Given the description of an element on the screen output the (x, y) to click on. 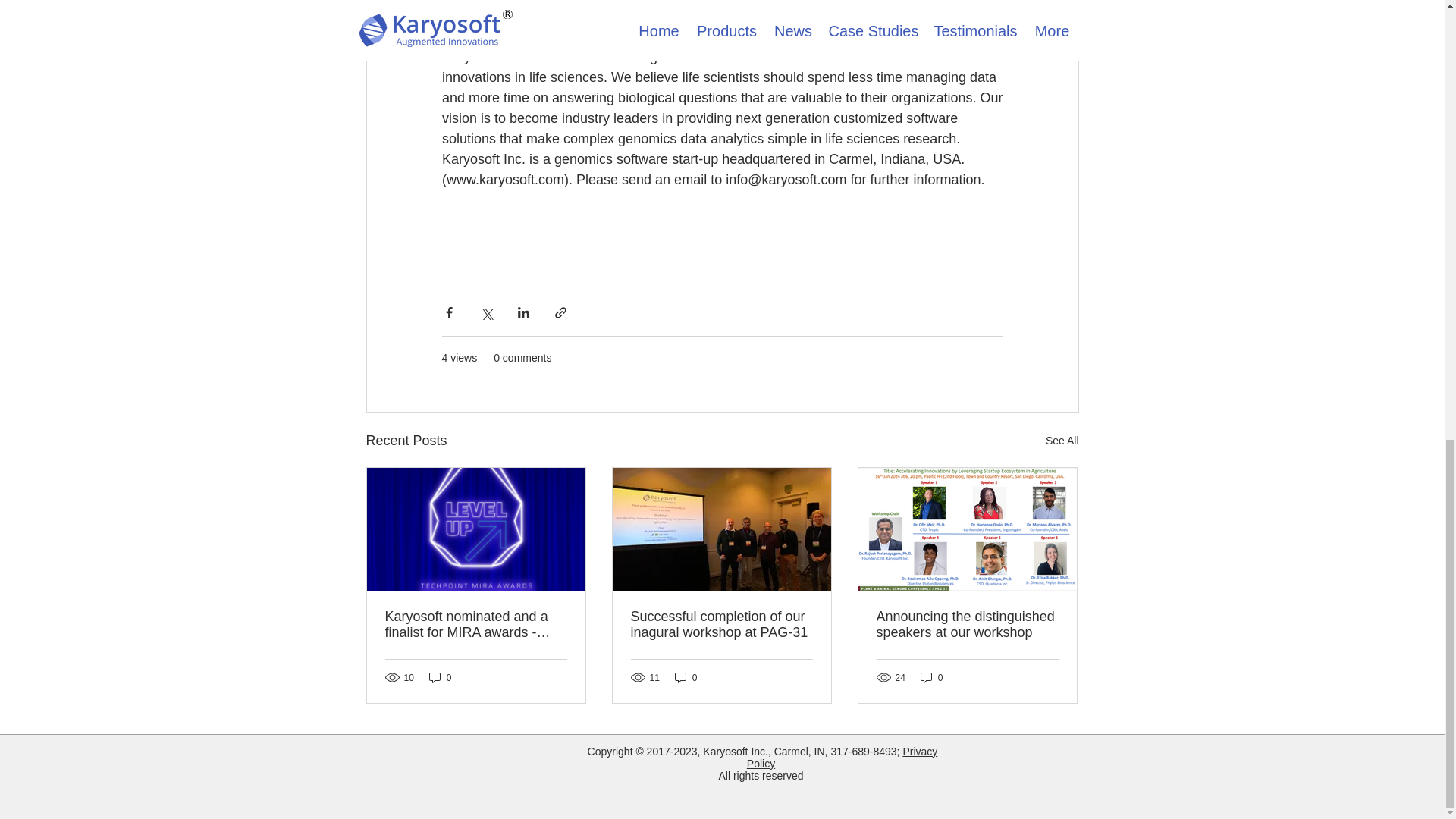
Announcing the distinguished speakers at our workshop (967, 624)
0 (931, 677)
0 (440, 677)
0 (685, 677)
Karyosoft nominated and a finalist for MIRA awards - 2024 (476, 624)
Privacy Policy (841, 757)
Successful completion of our inagural workshop at PAG-31 (721, 624)
See All (1061, 440)
